Given the description of an element on the screen output the (x, y) to click on. 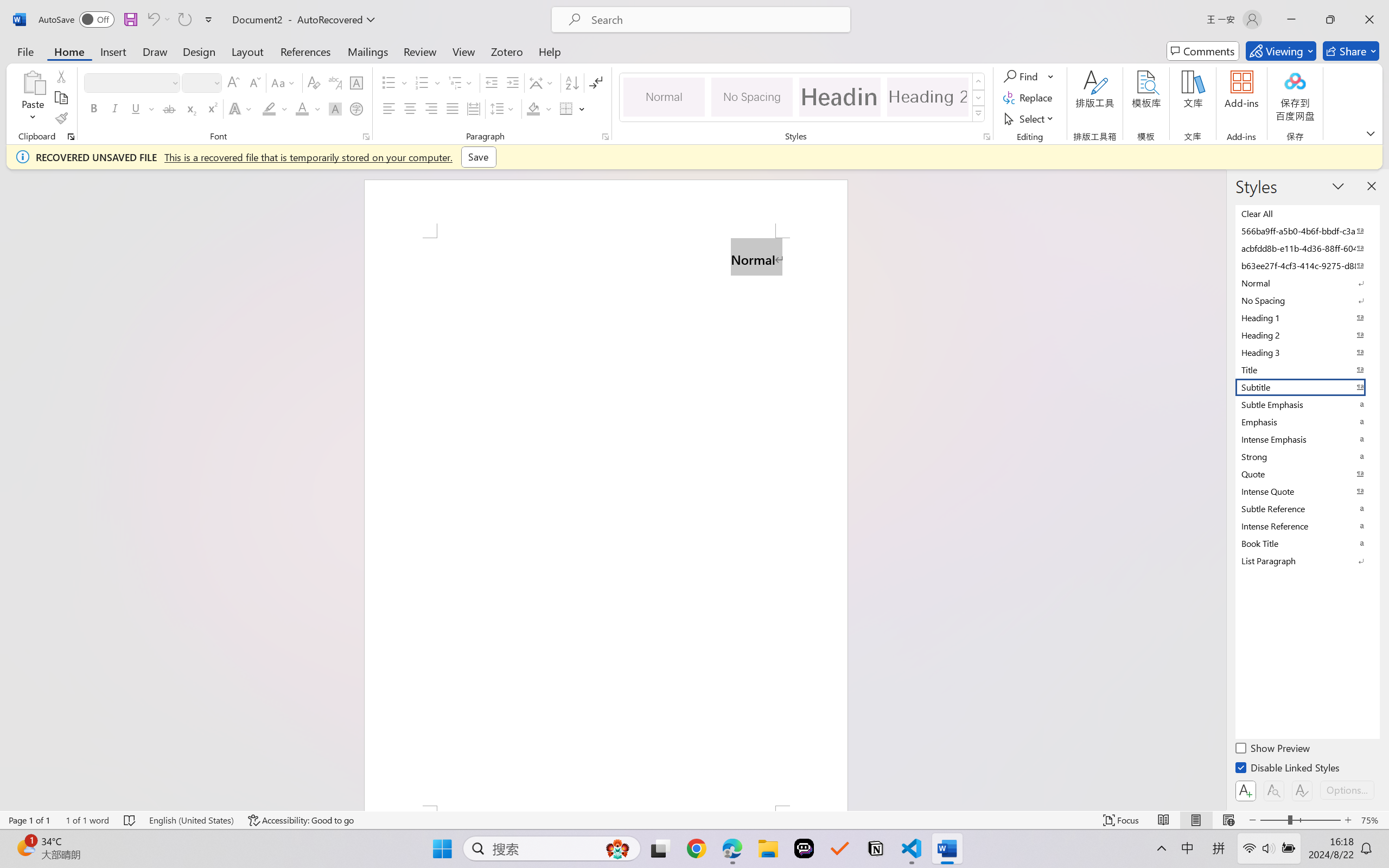
Class: MsoCommandBar (694, 819)
Decrease Indent (491, 82)
Class: NetUIButton (1301, 790)
acbfdd8b-e11b-4d36-88ff-6049b138f862 (1306, 247)
Mode (1280, 50)
Quote (1306, 473)
